Given the description of an element on the screen output the (x, y) to click on. 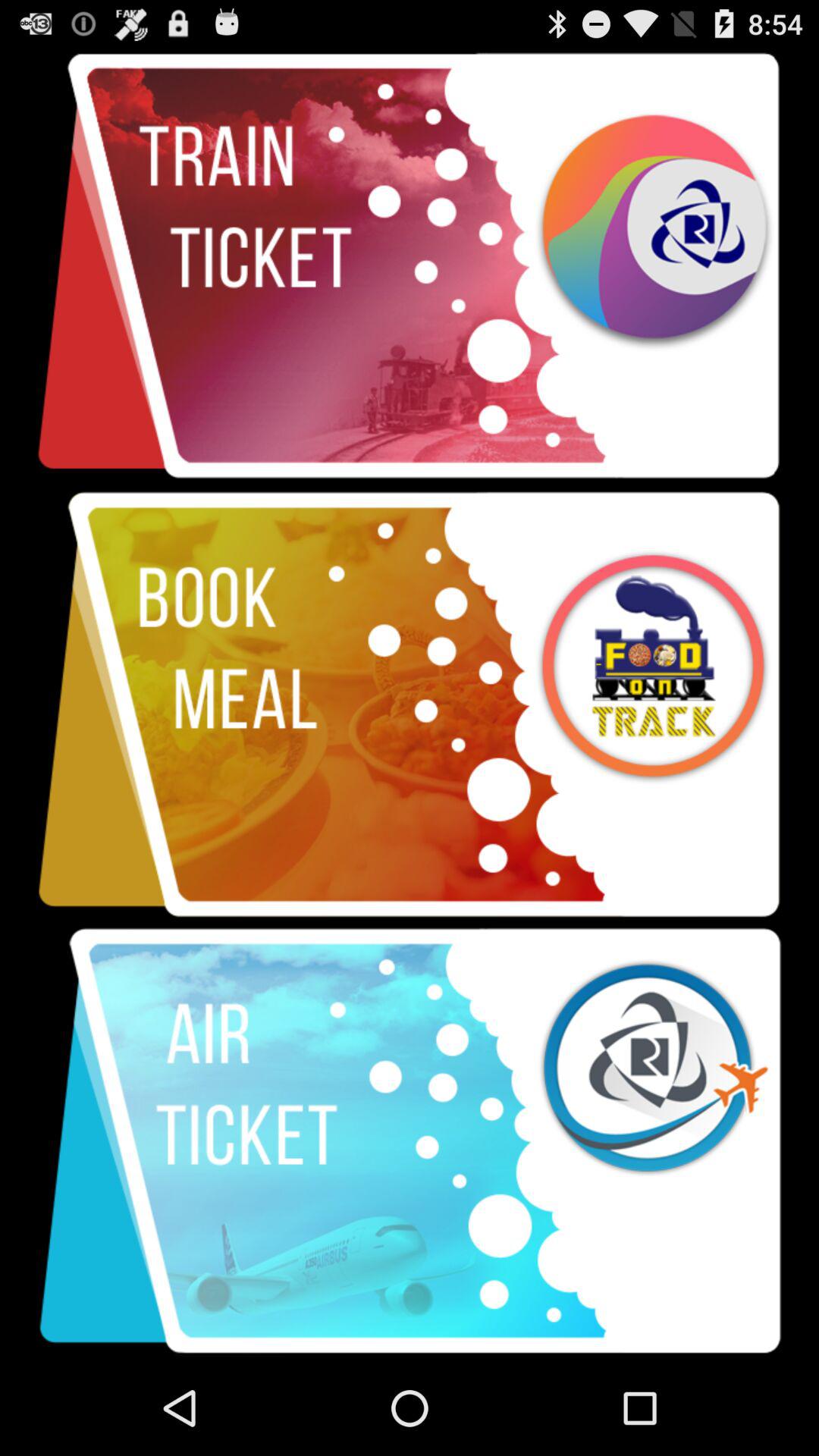
book air ticket (409, 1141)
